Given the description of an element on the screen output the (x, y) to click on. 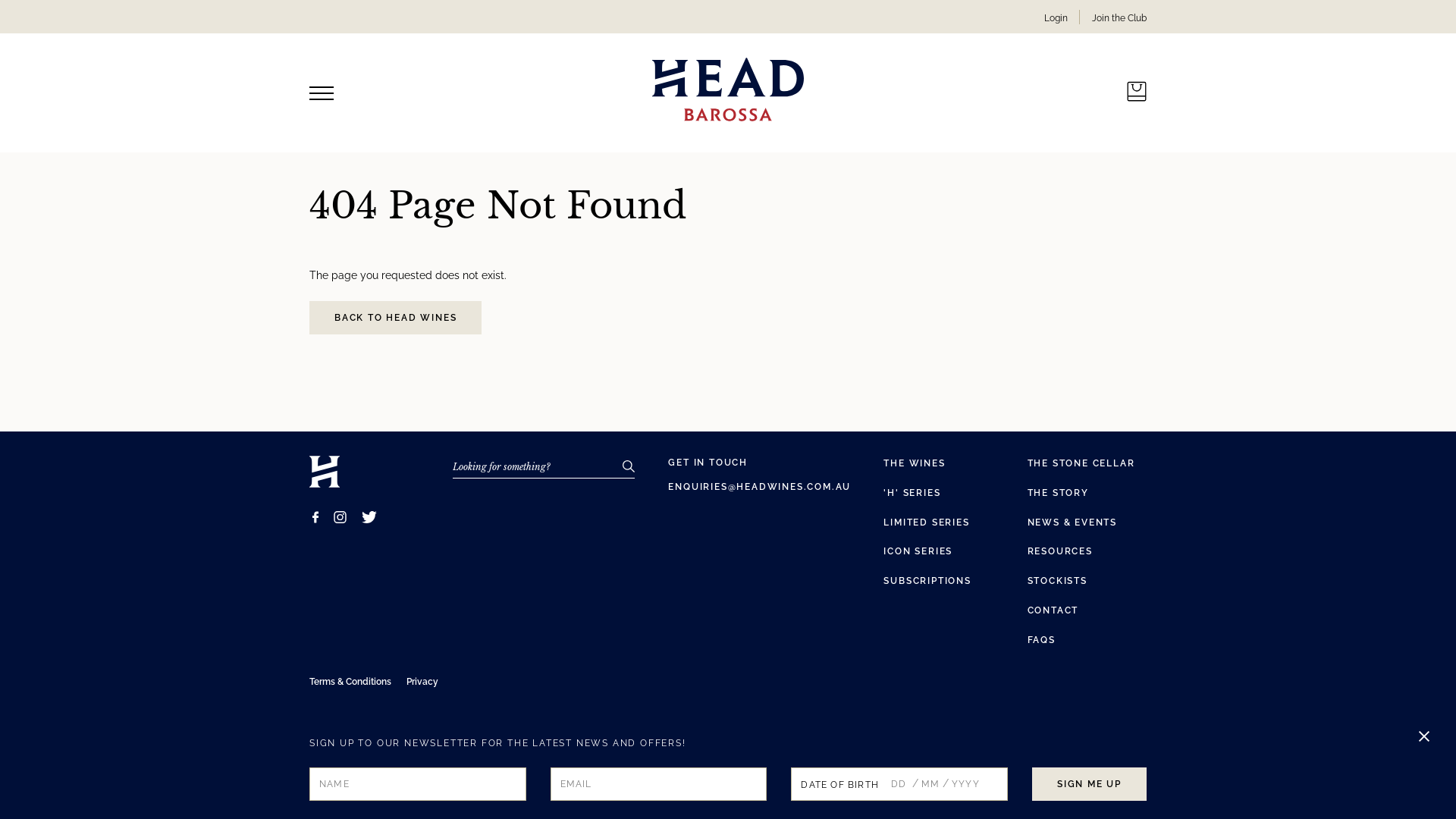
THE STORY Element type: text (1057, 492)
STOCKISTS Element type: text (1057, 580)
'H' SERIES Element type: text (911, 492)
ICON SERIES Element type: text (917, 550)
FAQS Element type: text (1041, 639)
NEWS & EVENTS Element type: text (1072, 522)
LIMITED SERIES Element type: text (926, 522)
Login Element type: text (1055, 17)
CONTACT Element type: text (1053, 610)
BACK TO HEAD WINES Element type: text (395, 317)
THE STONE CELLAR Element type: text (1081, 462)
ENQUIRIES@HEADWINES.COM.AU Element type: text (759, 486)
SUBSCRIPTIONS Element type: text (926, 580)
Terms & Conditions Element type: text (350, 681)
RESOURCES Element type: text (1059, 550)
THE WINES Element type: text (913, 462)
Privacy Element type: text (422, 681)
SIGN ME UP Element type: text (1089, 783)
Join the Club Element type: text (1119, 17)
